Given the description of an element on the screen output the (x, y) to click on. 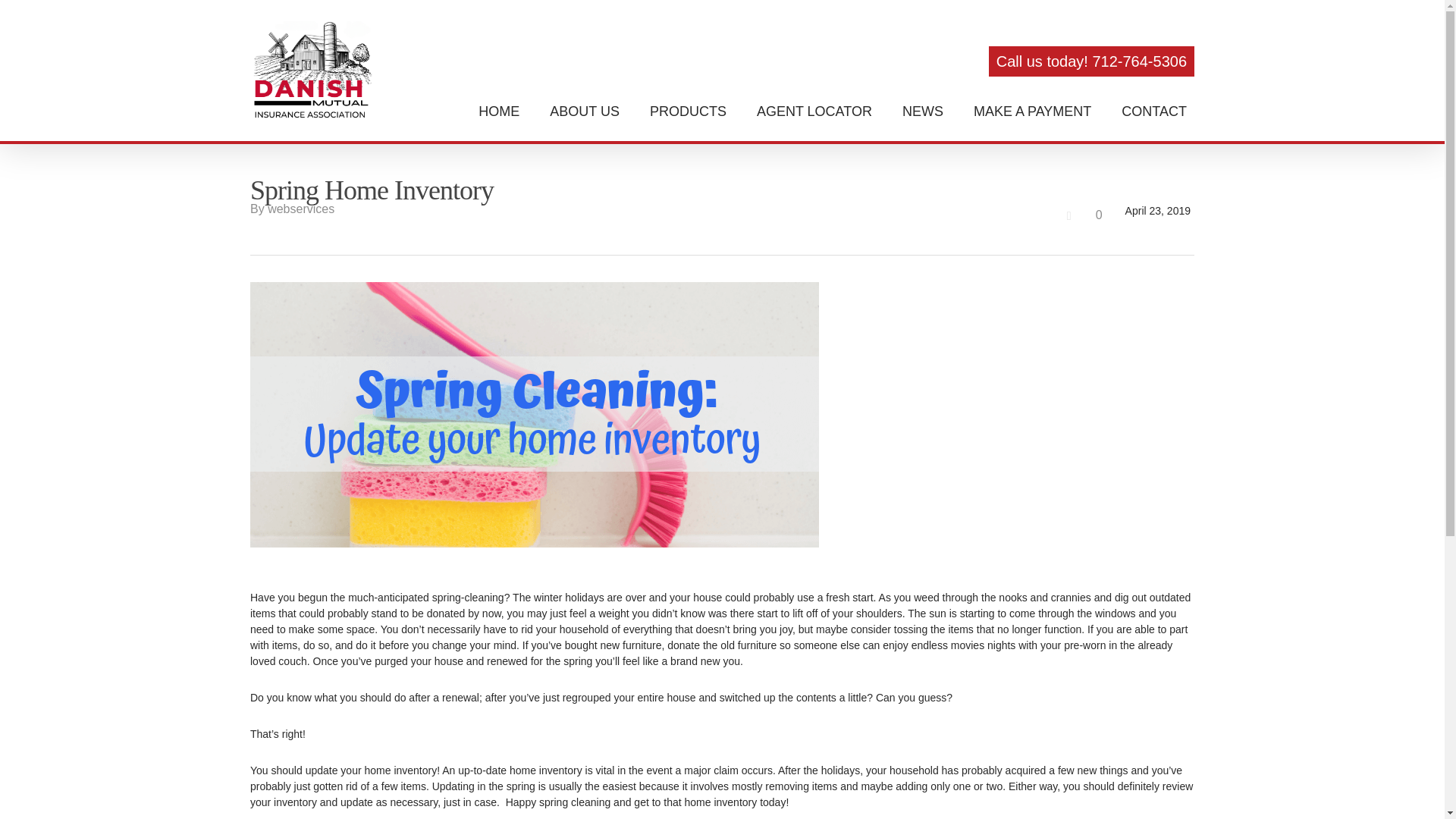
Posts by webservices (300, 208)
MAKE A PAYMENT (1032, 111)
AGENT LOCATOR (814, 111)
PRODUCTS (687, 111)
webservices (300, 208)
CONTACT (1153, 111)
0 (1083, 215)
HOME (498, 111)
Love this (1083, 215)
ABOUT US (584, 111)
NEWS (922, 111)
